Given the description of an element on the screen output the (x, y) to click on. 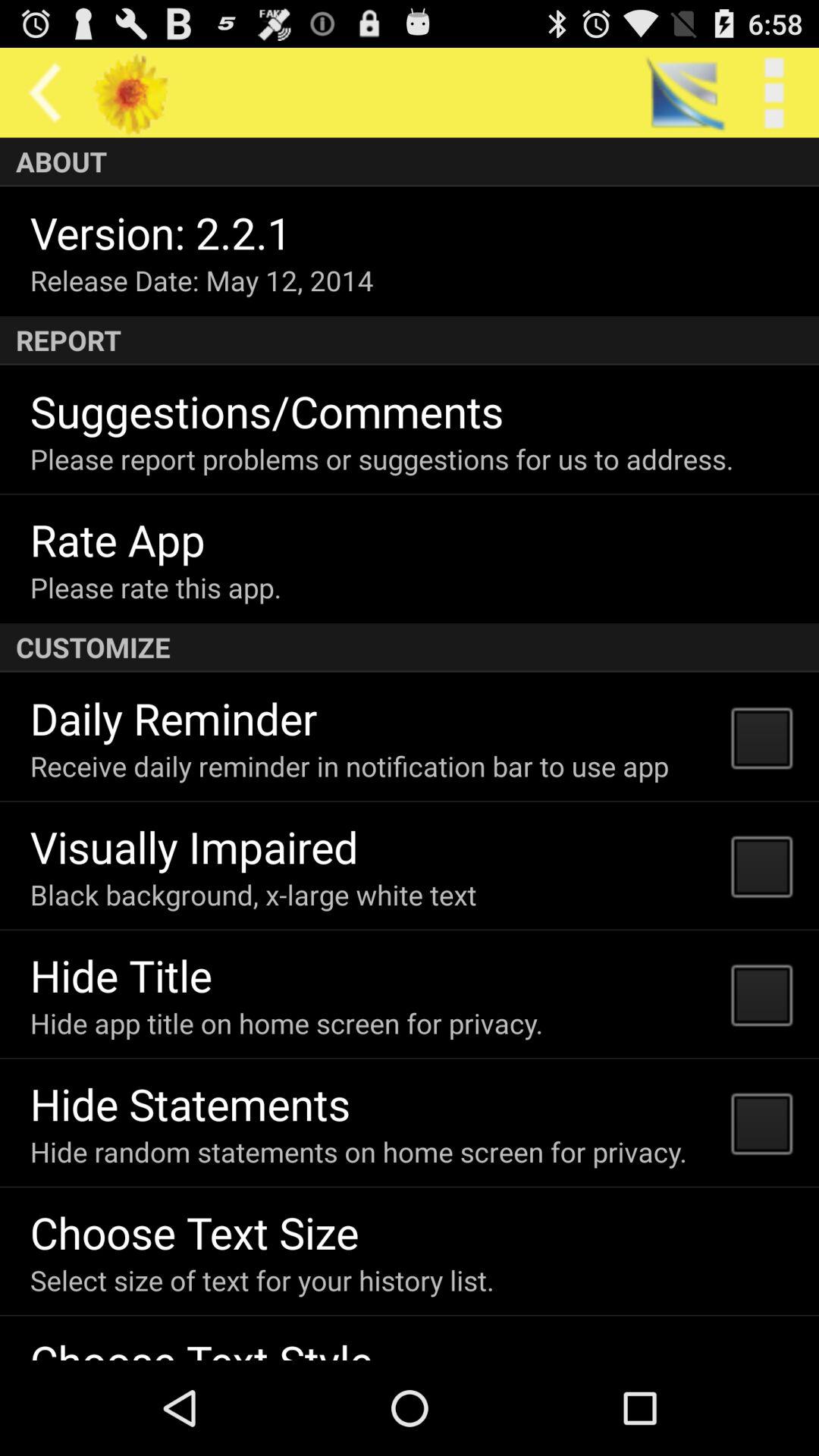
click the app above the about (44, 92)
